Given the description of an element on the screen output the (x, y) to click on. 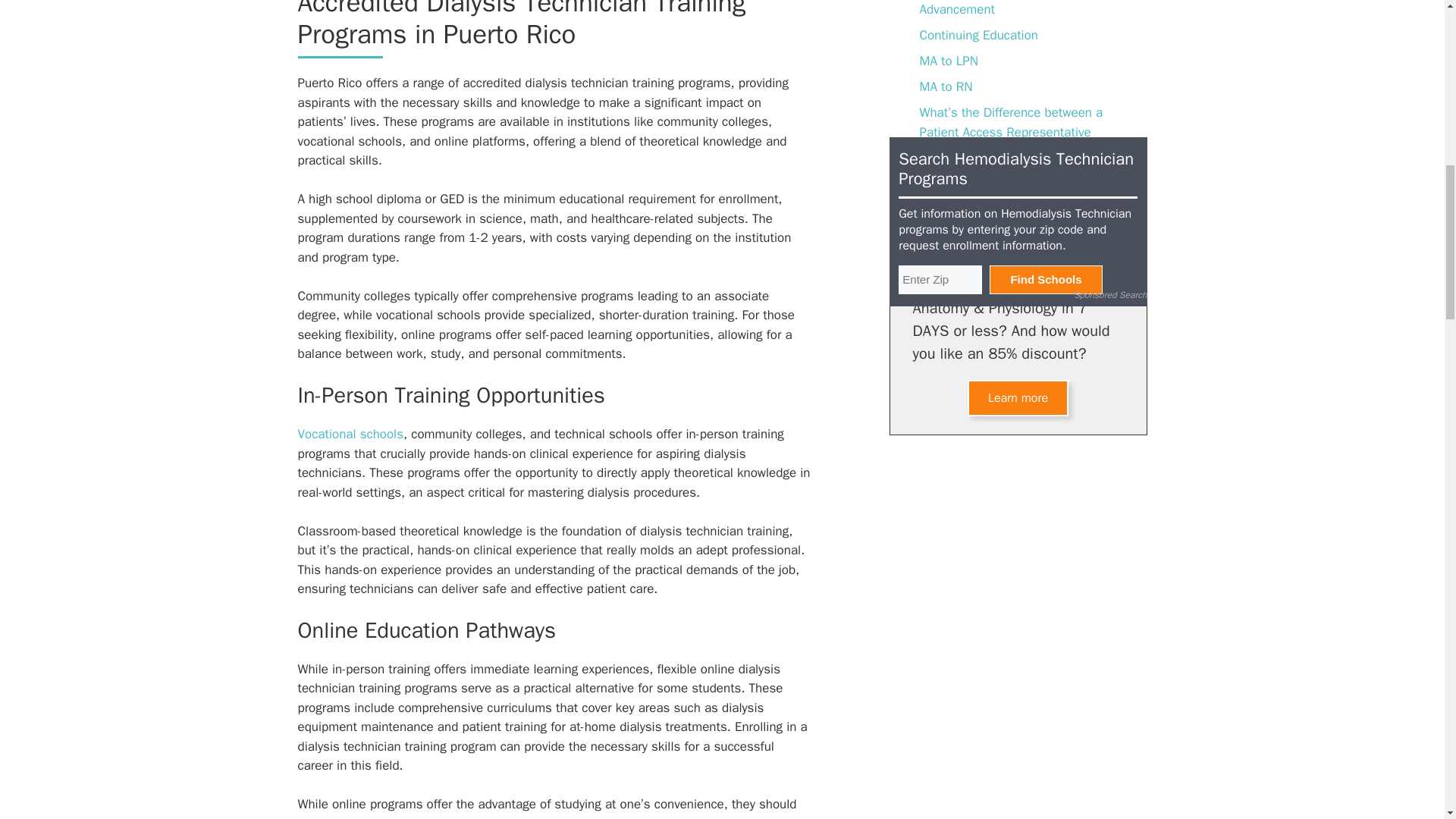
Learn more (1018, 398)
Learn more (1018, 397)
Vocational schools (350, 433)
Continuing Education (978, 35)
Medical Transcriptionist Training (1009, 202)
MA to RN (945, 86)
Medical Assistant Career Advancement (988, 9)
LPN Schools (954, 176)
MA to LPN (947, 60)
Vocational schools (350, 433)
